Given the description of an element on the screen output the (x, y) to click on. 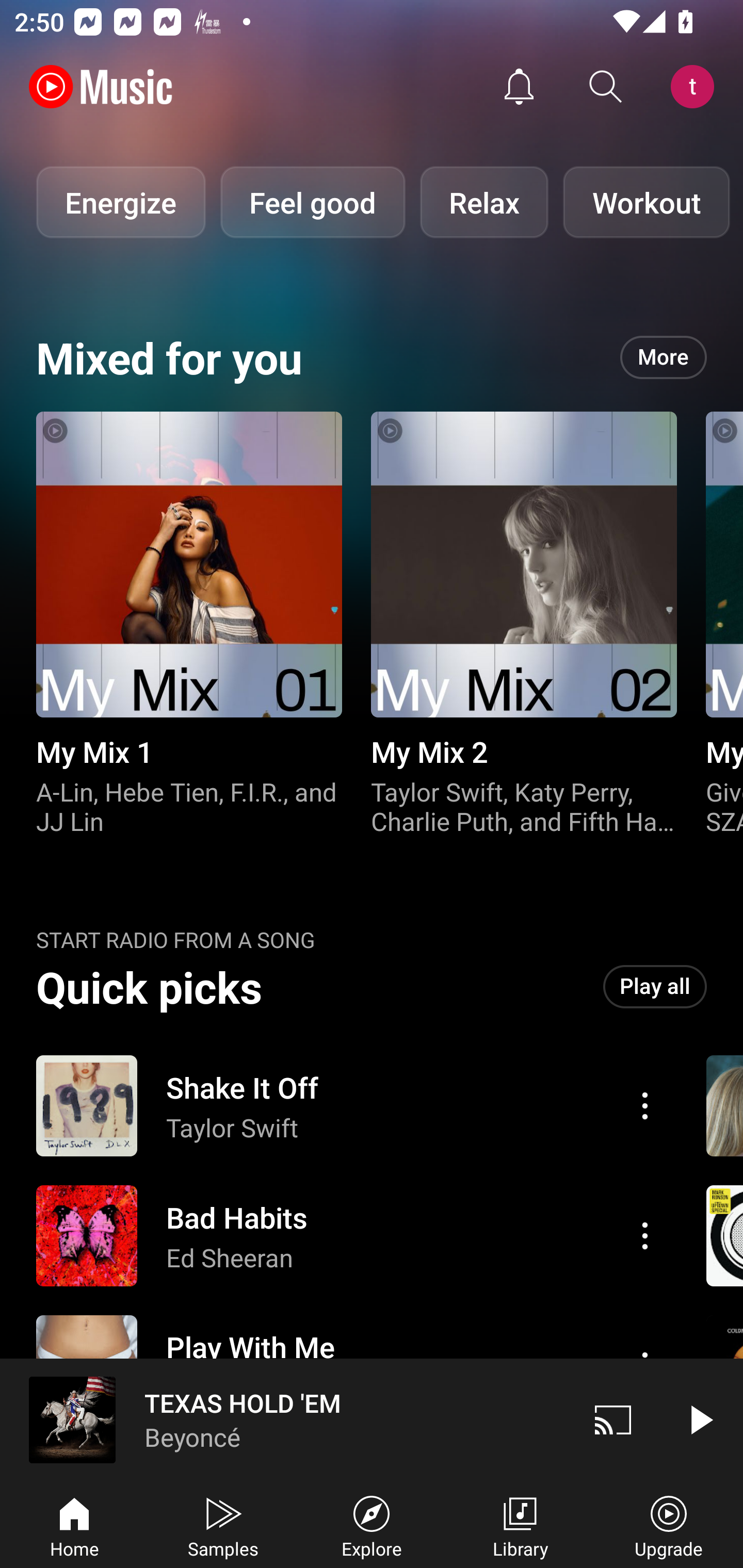
Activity feed (518, 86)
Search (605, 86)
Account (696, 86)
Action menu (349, 1106)
Action menu (644, 1106)
Action menu (349, 1236)
Action menu (644, 1235)
TEXAS HOLD 'EM Beyoncé (284, 1419)
Cast. Disconnected (612, 1419)
Play video (699, 1419)
Home (74, 1524)
Samples (222, 1524)
Explore (371, 1524)
Library (519, 1524)
Upgrade (668, 1524)
